Given the description of an element on the screen output the (x, y) to click on. 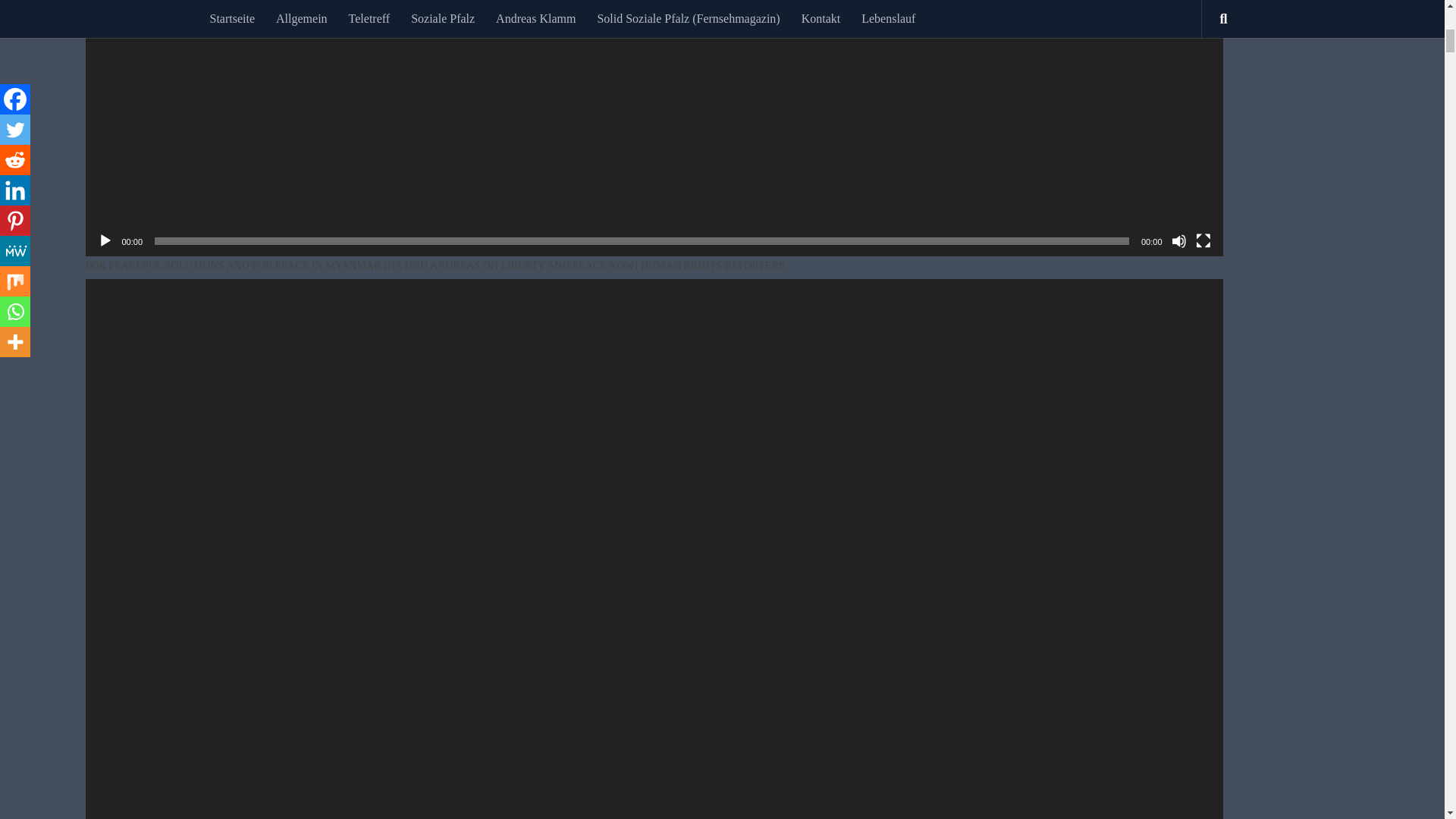
Mute (1178, 240)
Play (104, 240)
Fullscreen (1202, 240)
